Given the description of an element on the screen output the (x, y) to click on. 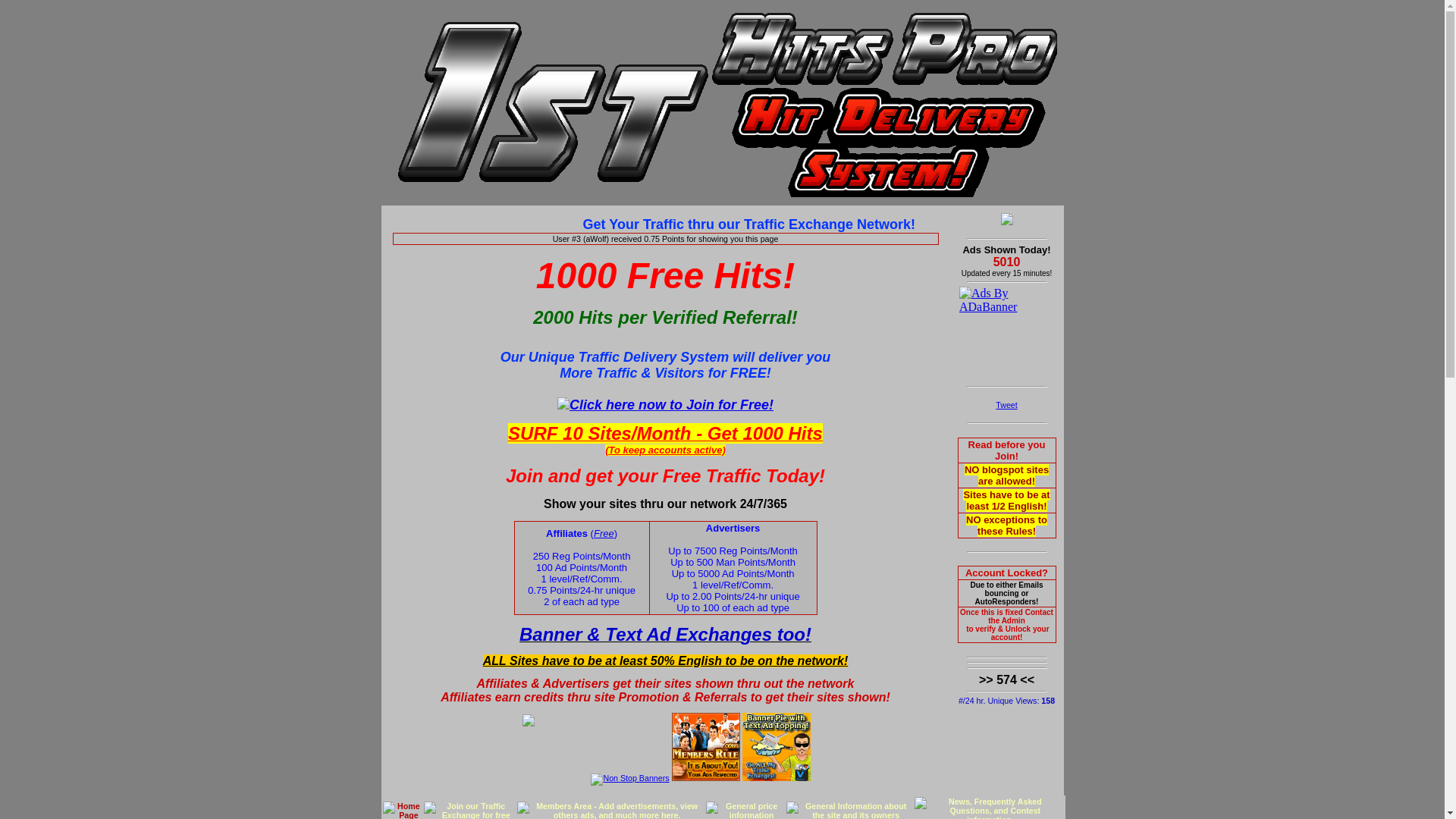
Click here now to Join for Free & Get your Free Traffic! Element type: hover (665, 404)
Non Stop Banners Element type: hover (629, 777)
Happy ThanksGiving! Element type: hover (1007, 221)
Click here now to Join for Free! Element type: hover (665, 405)
Tweet Element type: text (1005, 404)
